Given the description of an element on the screen output the (x, y) to click on. 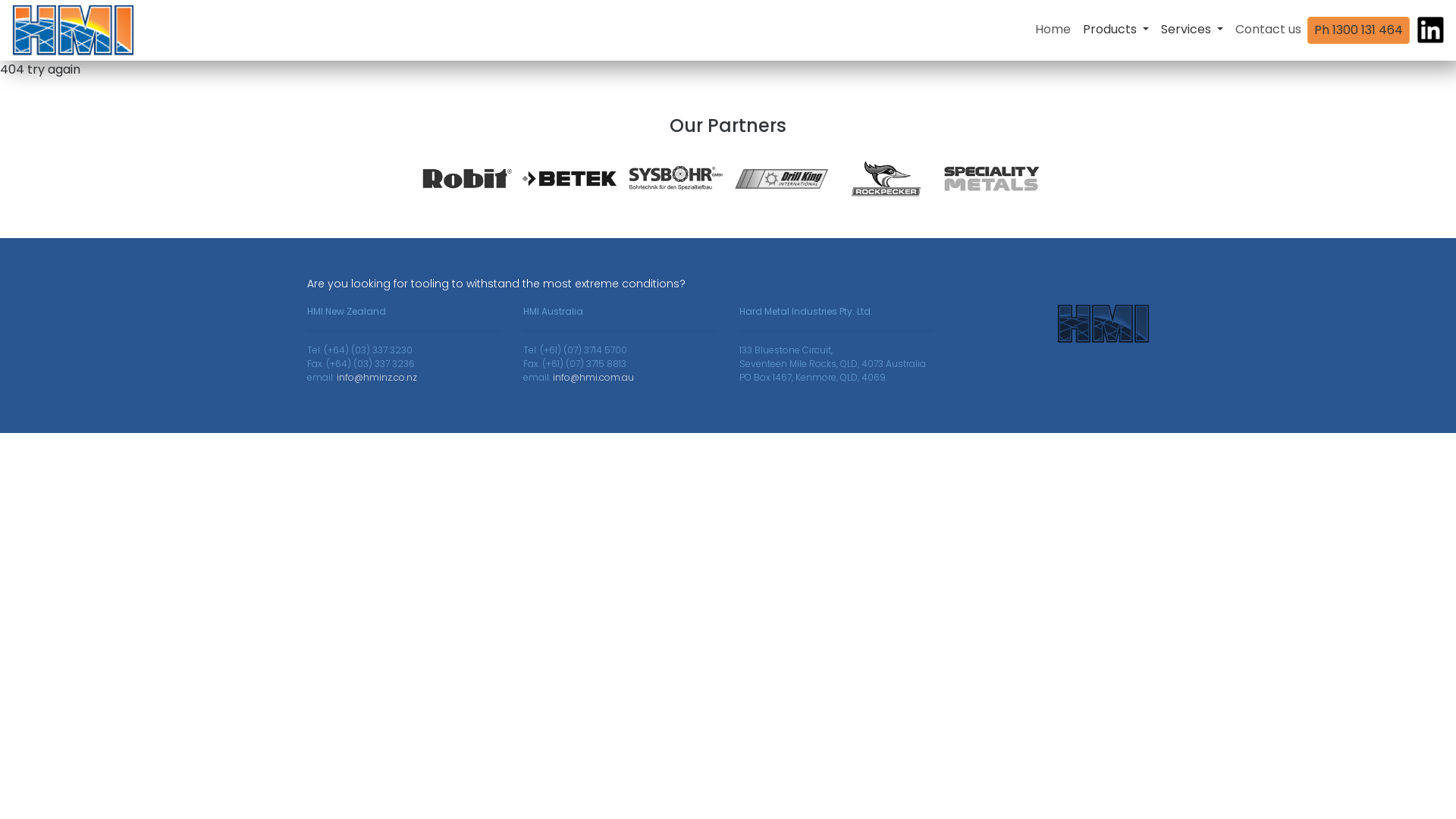
Services Element type: text (1191, 29)
Contact us Element type: text (1268, 29)
info@hminz.co.nz Element type: text (376, 376)
Products Element type: text (1115, 29)
info@hmi.com.au Element type: text (592, 376)
Home Element type: text (1052, 29)
Ph 1300 131 464 Element type: text (1358, 29)
